Given the description of an element on the screen output the (x, y) to click on. 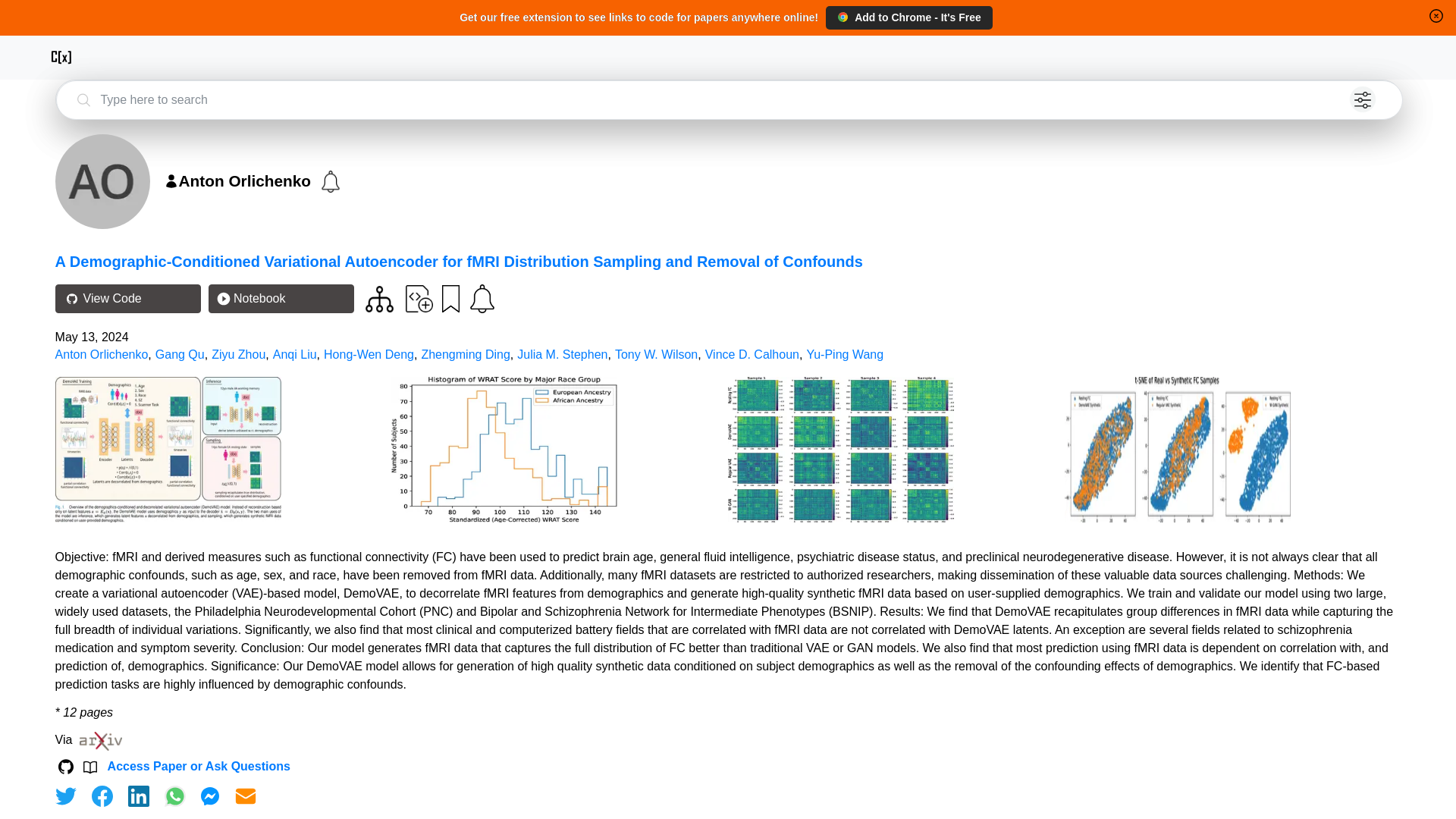
Yu-Ping Wang (844, 354)
Add to Chrome - It's Free (908, 17)
View Code (127, 298)
Notebook (280, 298)
Tony W. Wilson (655, 354)
Julia M. Stephen (561, 354)
Share via Email (245, 795)
Access Paper or Ask Questions (198, 766)
Gang Qu (180, 354)
